Given the description of an element on the screen output the (x, y) to click on. 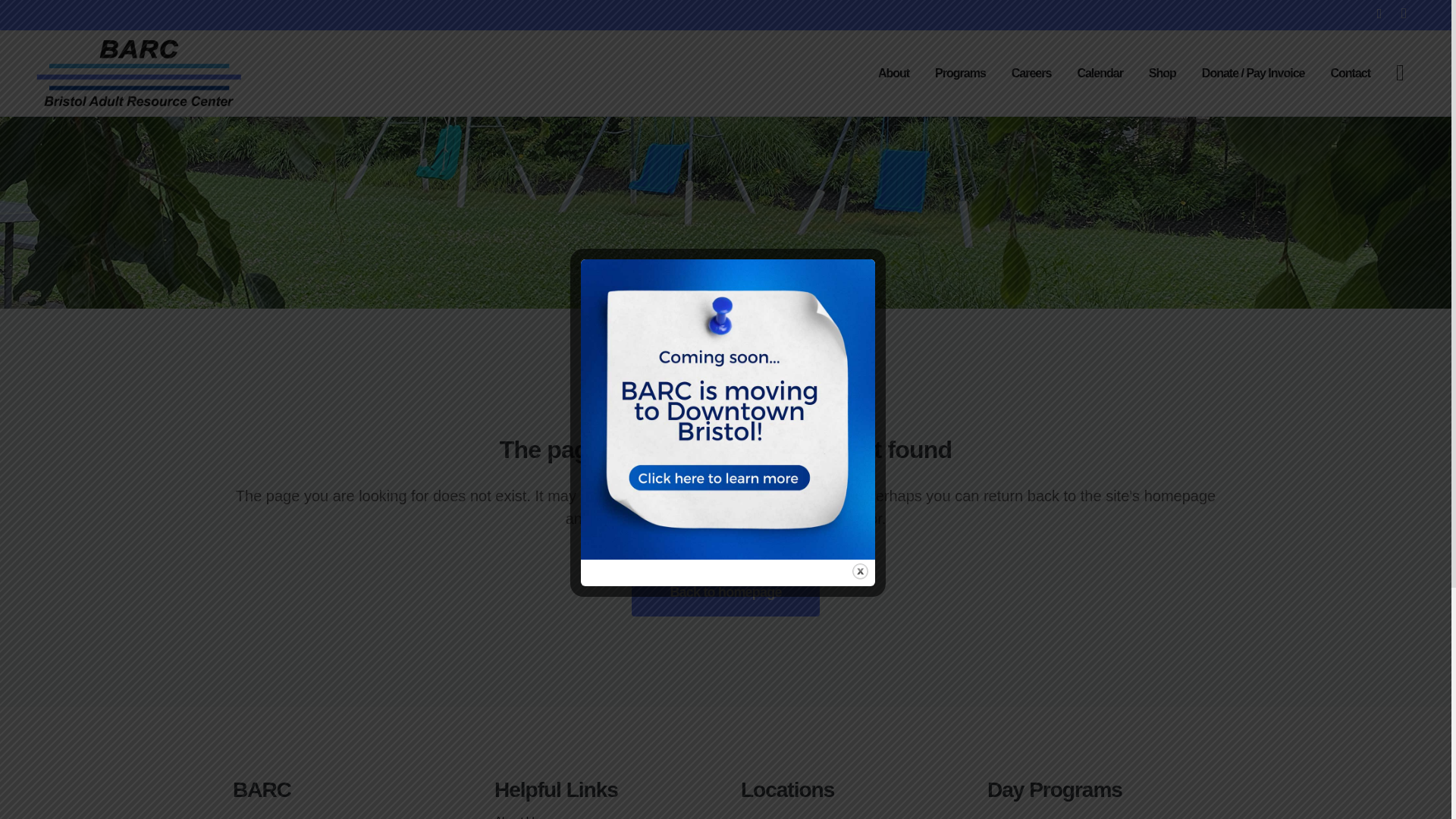
Close (859, 571)
Programs (959, 73)
